Given the description of an element on the screen output the (x, y) to click on. 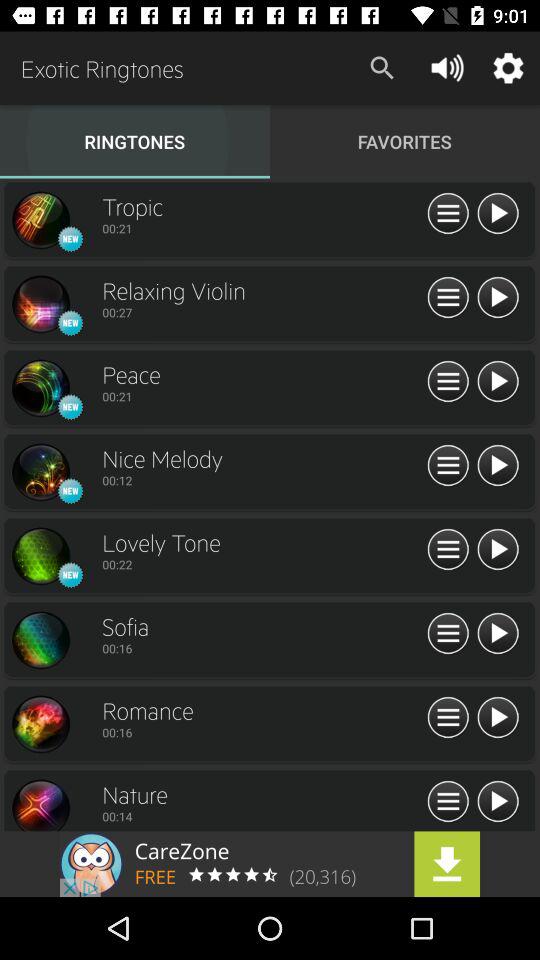
all are yous in play botton (497, 549)
